Given the description of an element on the screen output the (x, y) to click on. 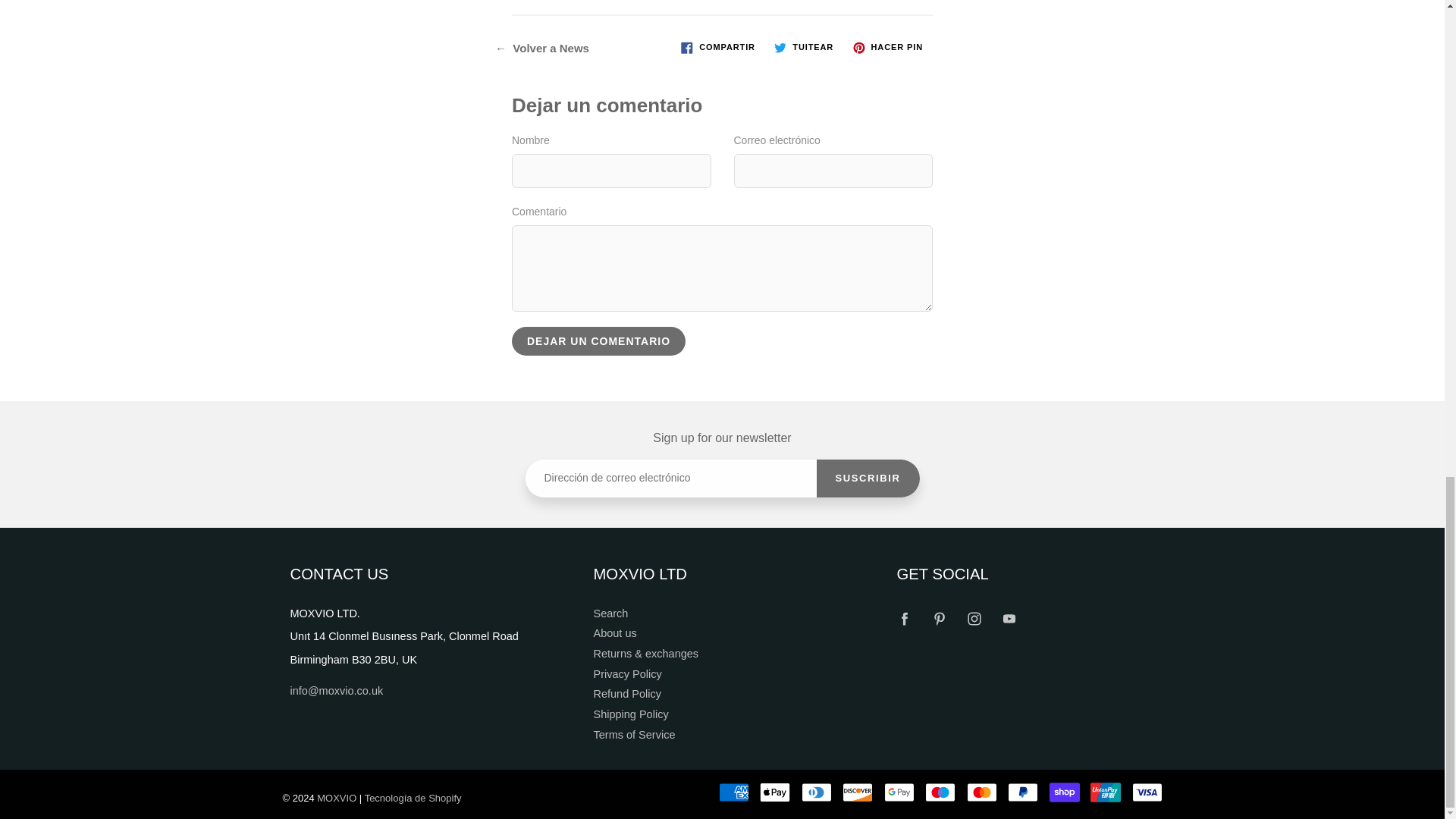
Compartir en Facebook (718, 47)
Pinterest (939, 618)
Google Pay (898, 792)
Maestro (939, 792)
Diners Club (816, 792)
PayPal (1022, 792)
Shop Pay (1064, 792)
Discover (857, 792)
Facebook (904, 618)
Mastercard (981, 792)
Pinear en Pinterest (887, 47)
American Express (734, 792)
YouTube (1009, 618)
Visa (1146, 792)
Instagram (974, 618)
